Given the description of an element on the screen output the (x, y) to click on. 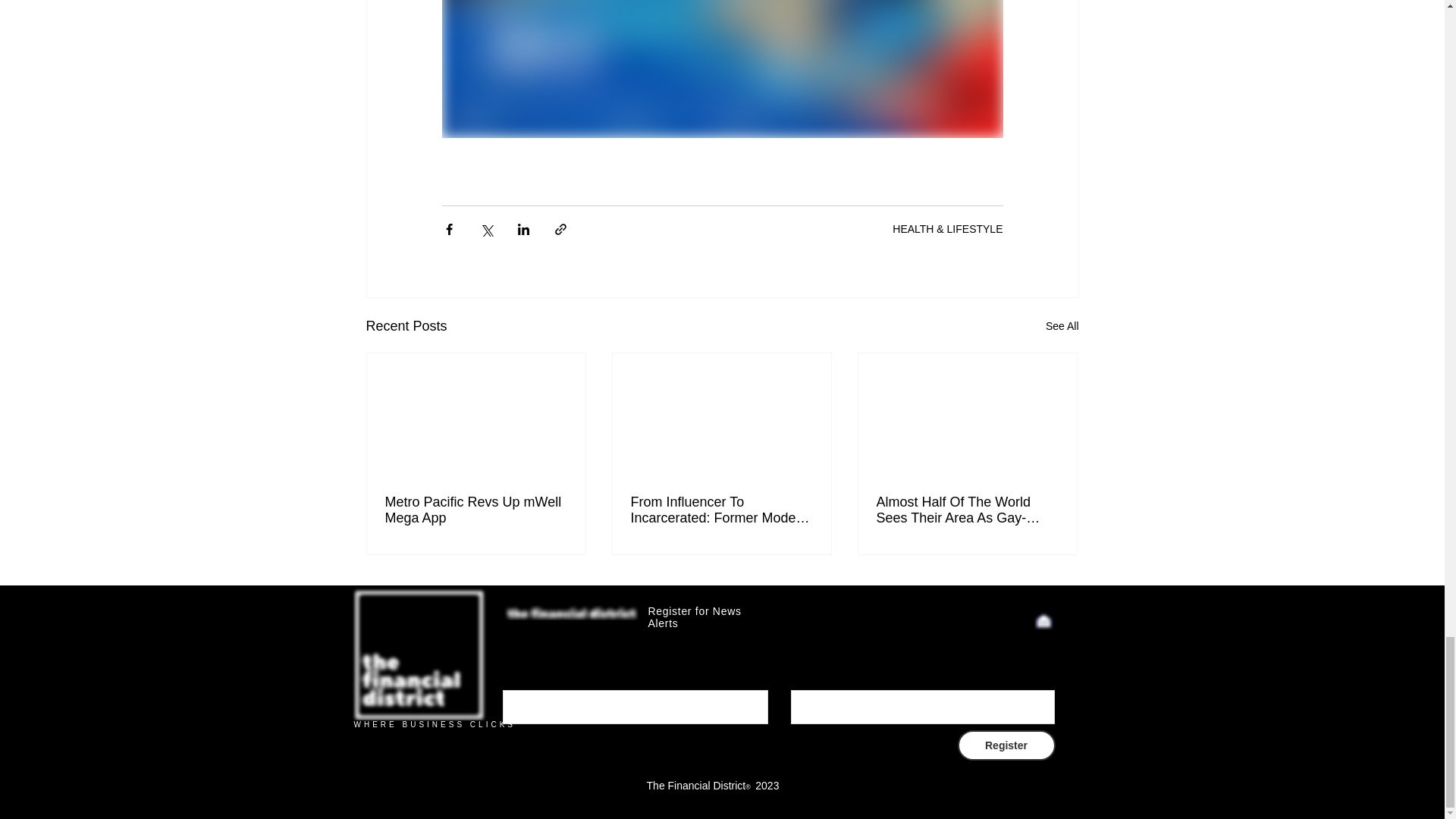
Metro Pacific Revs Up mWell Mega App (476, 510)
See All (1061, 326)
